Given the description of an element on the screen output the (x, y) to click on. 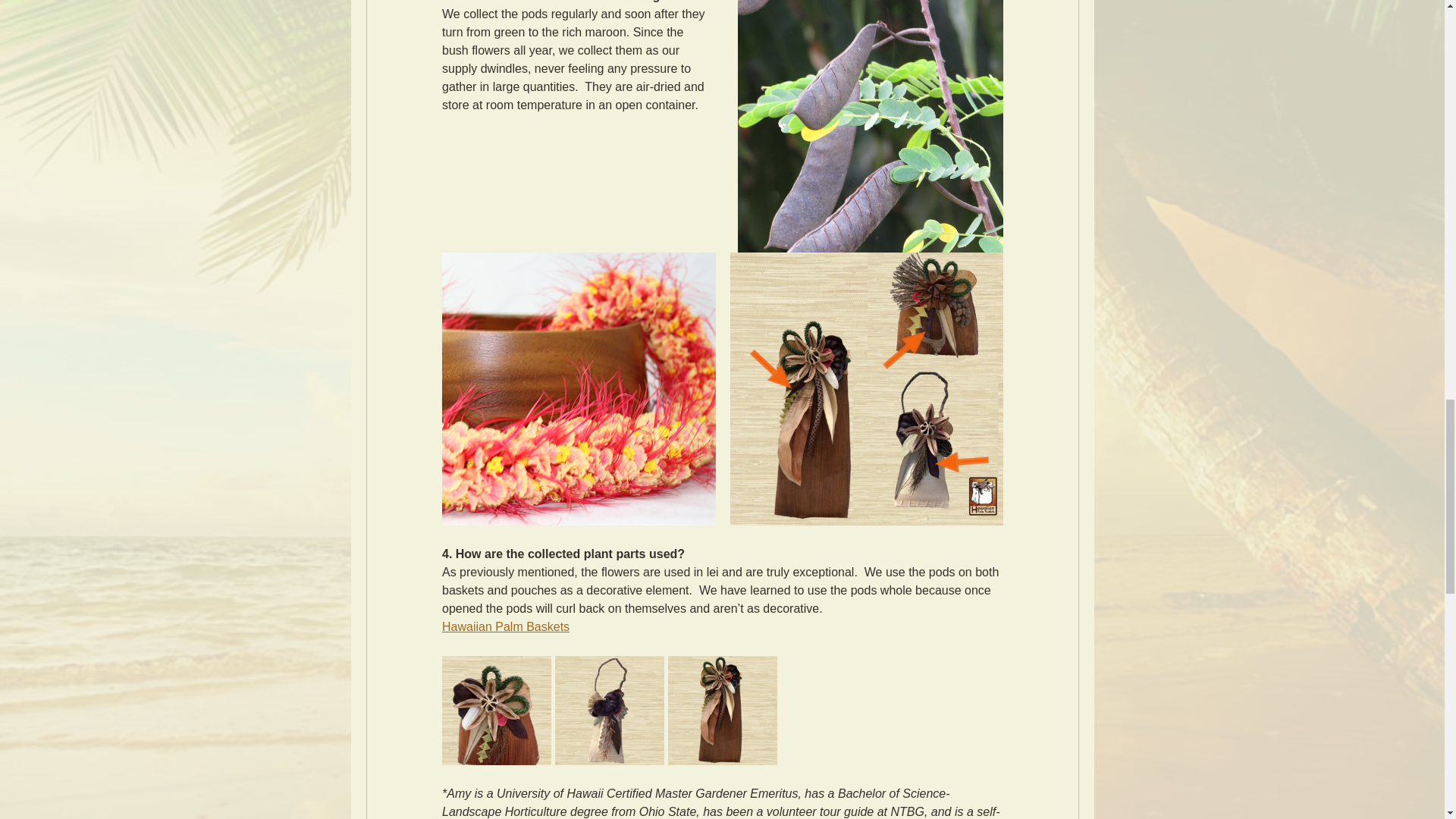
Hawaiian Palm Baskets (505, 626)
